Given the description of an element on the screen output the (x, y) to click on. 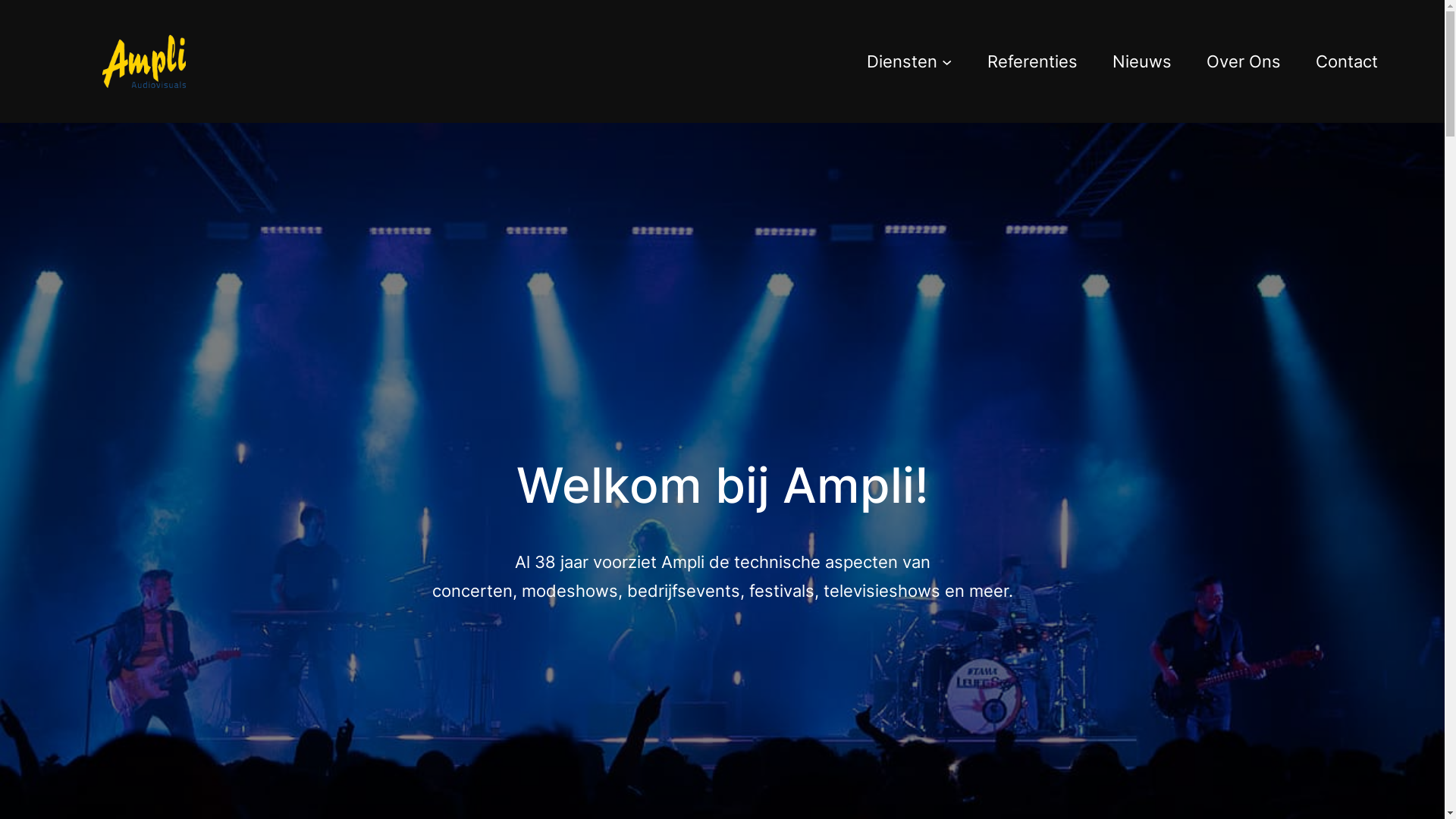
Nieuws Element type: text (1140, 61)
Over Ons Element type: text (1242, 61)
Diensten Element type: text (901, 61)
Contact Element type: text (1345, 61)
Referenties Element type: text (1032, 61)
